Given the description of an element on the screen output the (x, y) to click on. 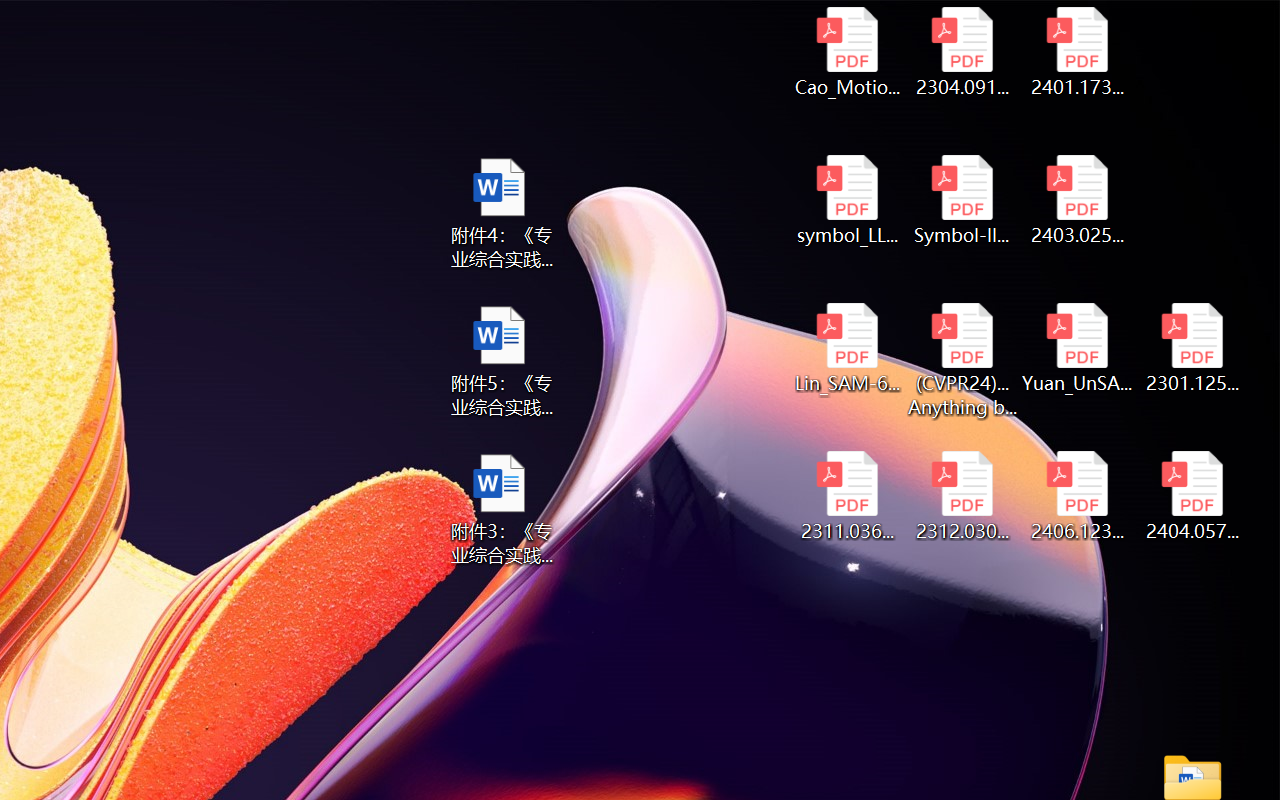
Symbol-llm-v2.pdf (962, 200)
2301.12597v3.pdf (1192, 348)
2406.12373v2.pdf (1077, 496)
(CVPR24)Matching Anything by Segmenting Anything.pdf (962, 360)
symbol_LLM.pdf (846, 200)
2403.02502v1.pdf (1077, 200)
2304.09121v3.pdf (962, 52)
2311.03658v2.pdf (846, 496)
2312.03032v2.pdf (962, 496)
